Given the description of an element on the screen output the (x, y) to click on. 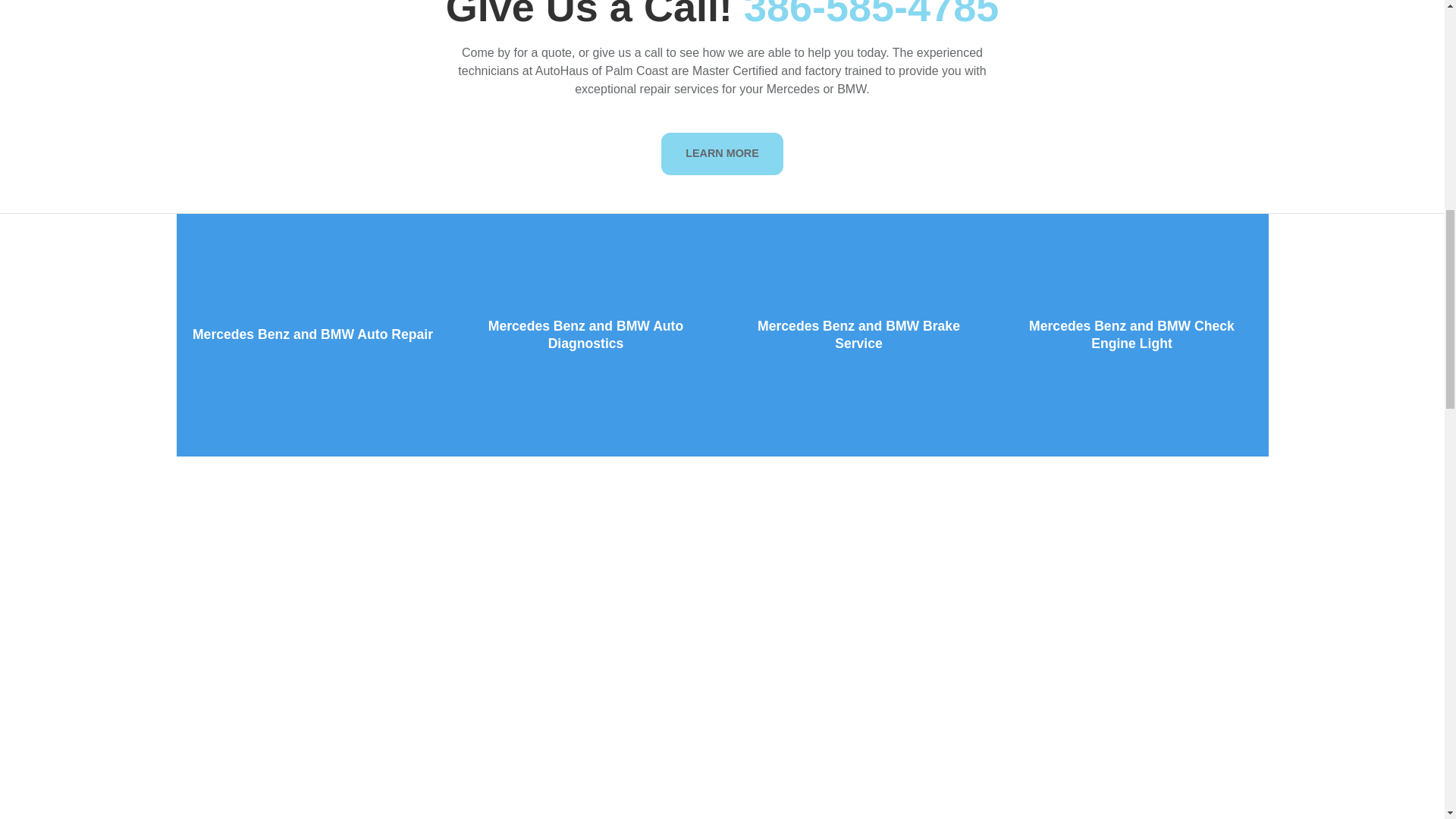
386-585-4785 (871, 15)
Auto Repair (312, 334)
Check Engine Light (1131, 334)
Brake Service (858, 334)
LEARN MORE (722, 153)
Mercedes Benz and BMW Auto Repair (312, 334)
Mercedes Benz and BMW Auto Diagnostics (585, 334)
Auto Diagnostics (585, 334)
Mercedes Benz and BMW Check Engine Light (1131, 334)
Mercedes Benz and BMW Brake Service (858, 334)
